Given the description of an element on the screen output the (x, y) to click on. 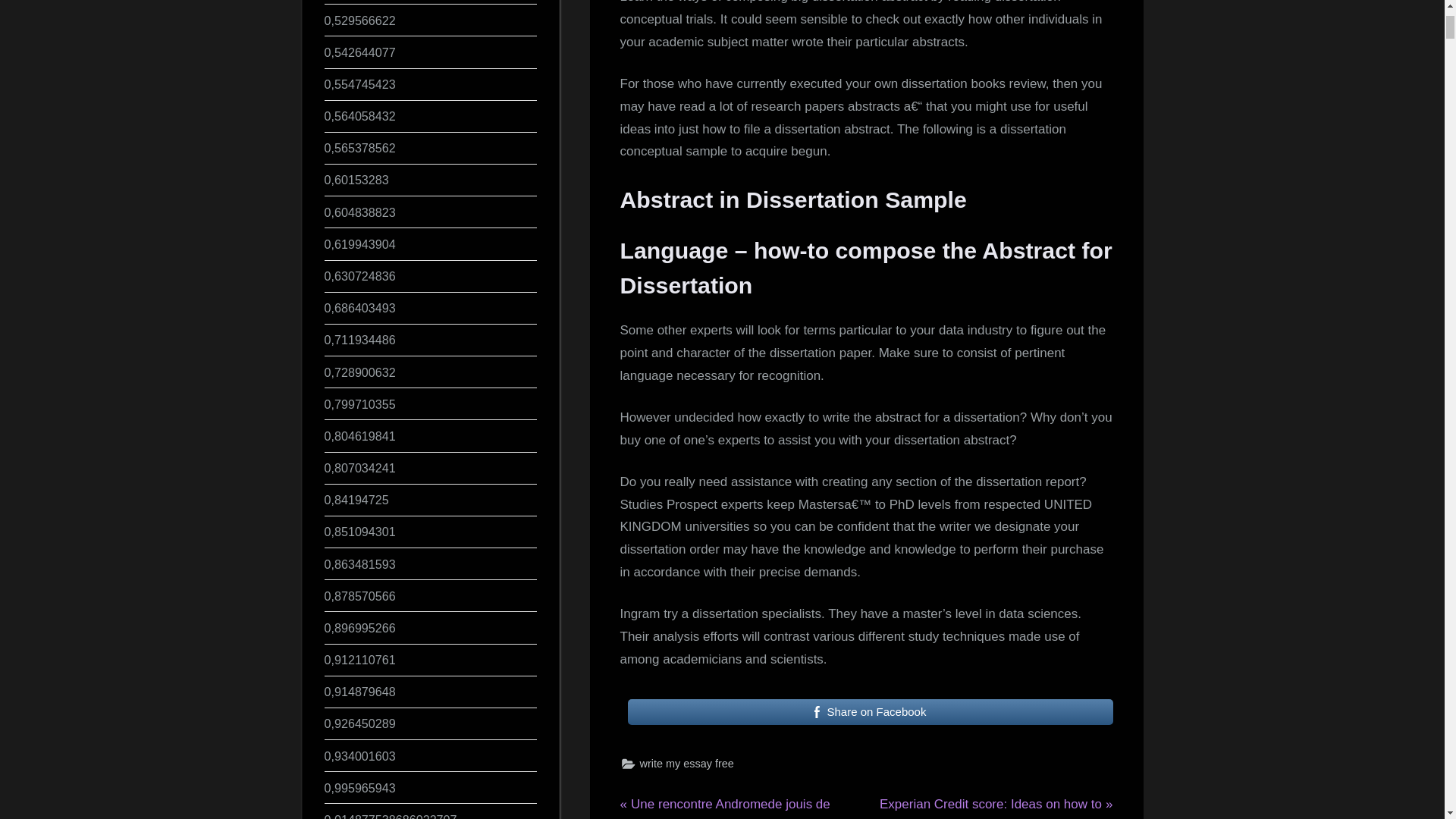
Share on Facebook (870, 711)
write my essay free (686, 763)
